Given the description of an element on the screen output the (x, y) to click on. 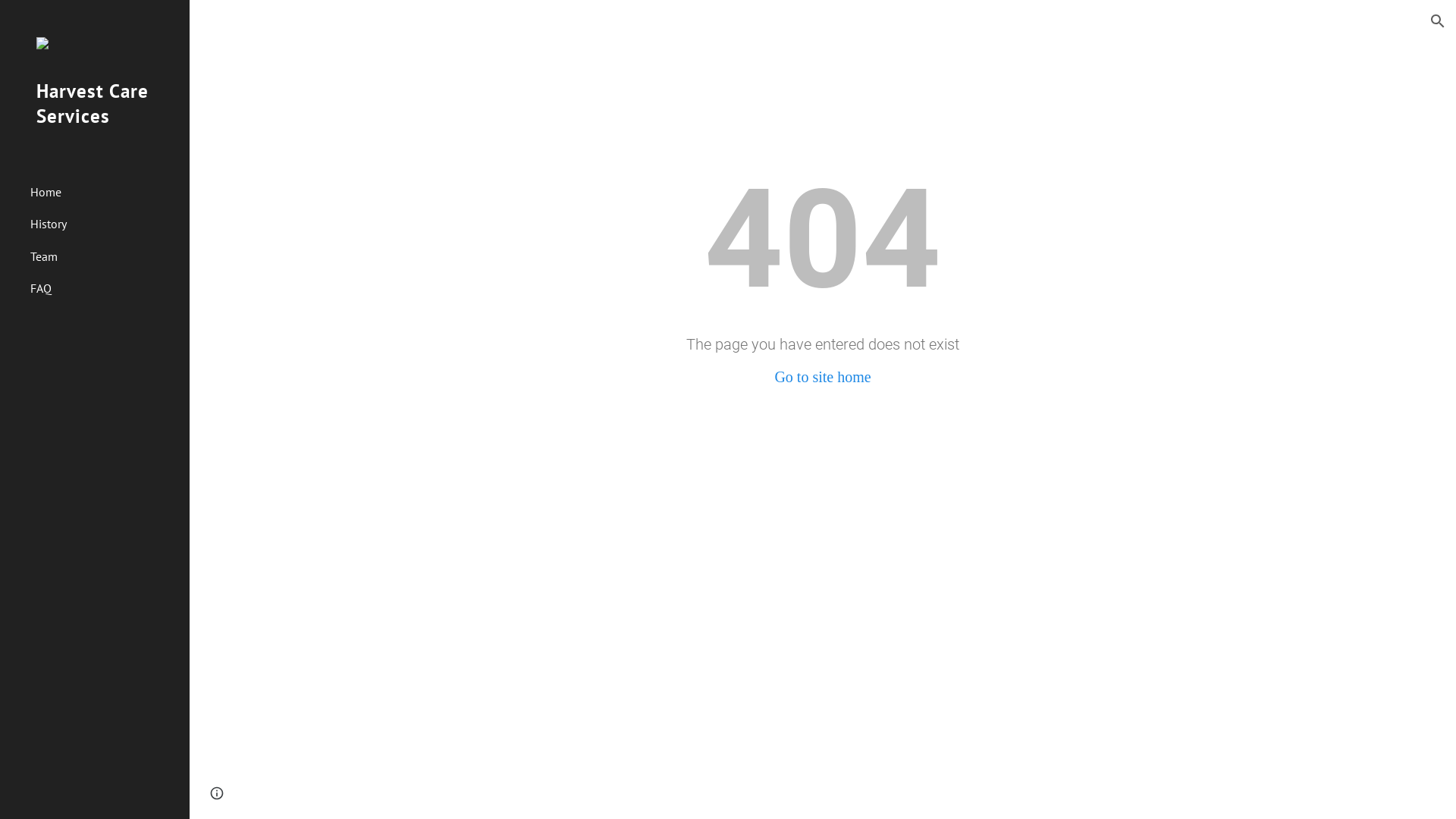
Team Element type: text (103, 256)
Harvest Care Services Element type: text (94, 122)
History Element type: text (103, 224)
Go to site home Element type: text (822, 376)
FAQ Element type: text (103, 288)
Home Element type: text (103, 191)
